Given the description of an element on the screen output the (x, y) to click on. 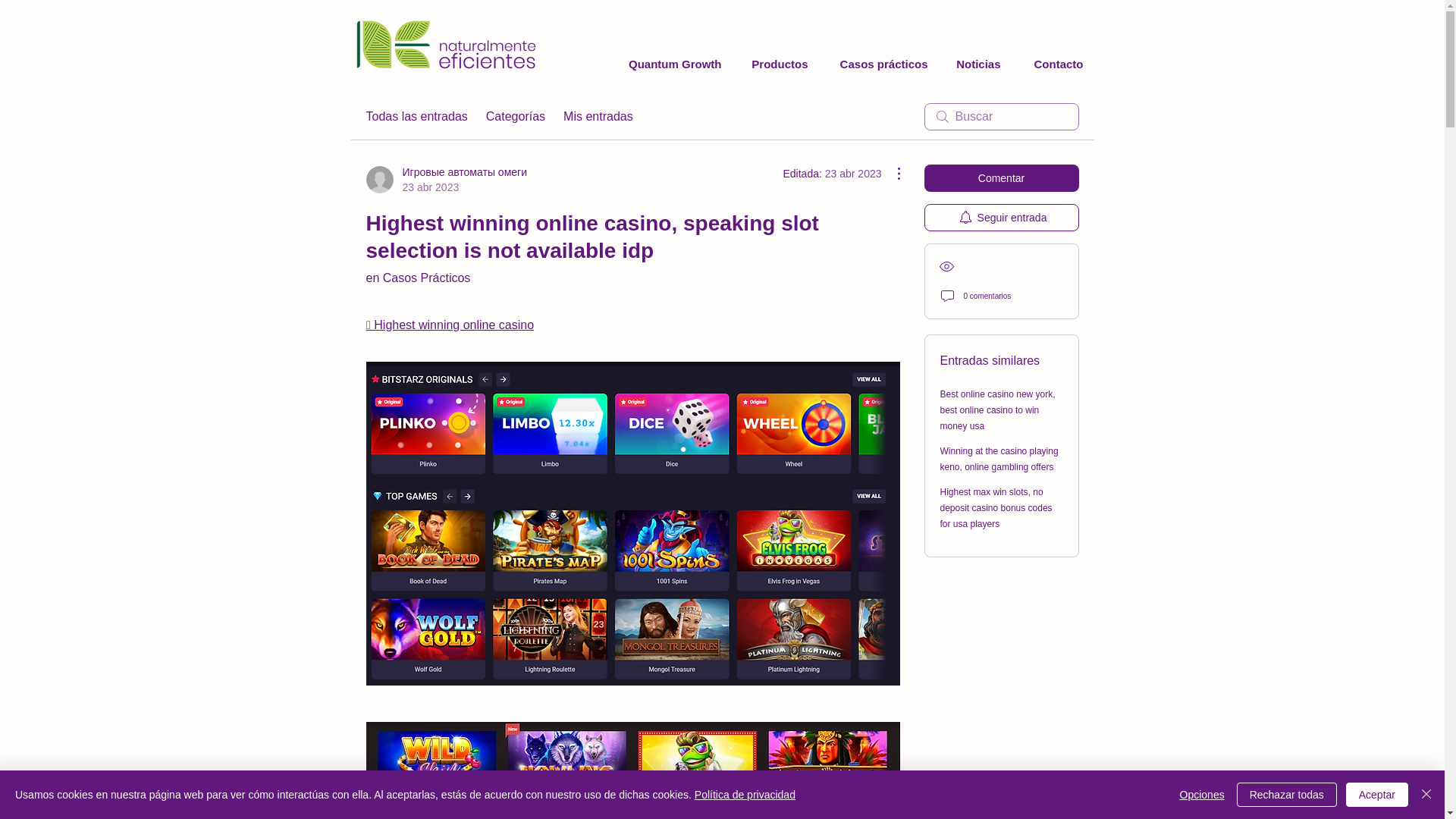
Rechazar todas (1286, 794)
Aceptar (1376, 794)
Quantum Growth (670, 63)
Winning at the casino playing keno, online gambling offers (999, 458)
Seguir entrada (1000, 216)
Noticias (975, 63)
Contacto (1052, 63)
Comentar (1000, 177)
